Given the description of an element on the screen output the (x, y) to click on. 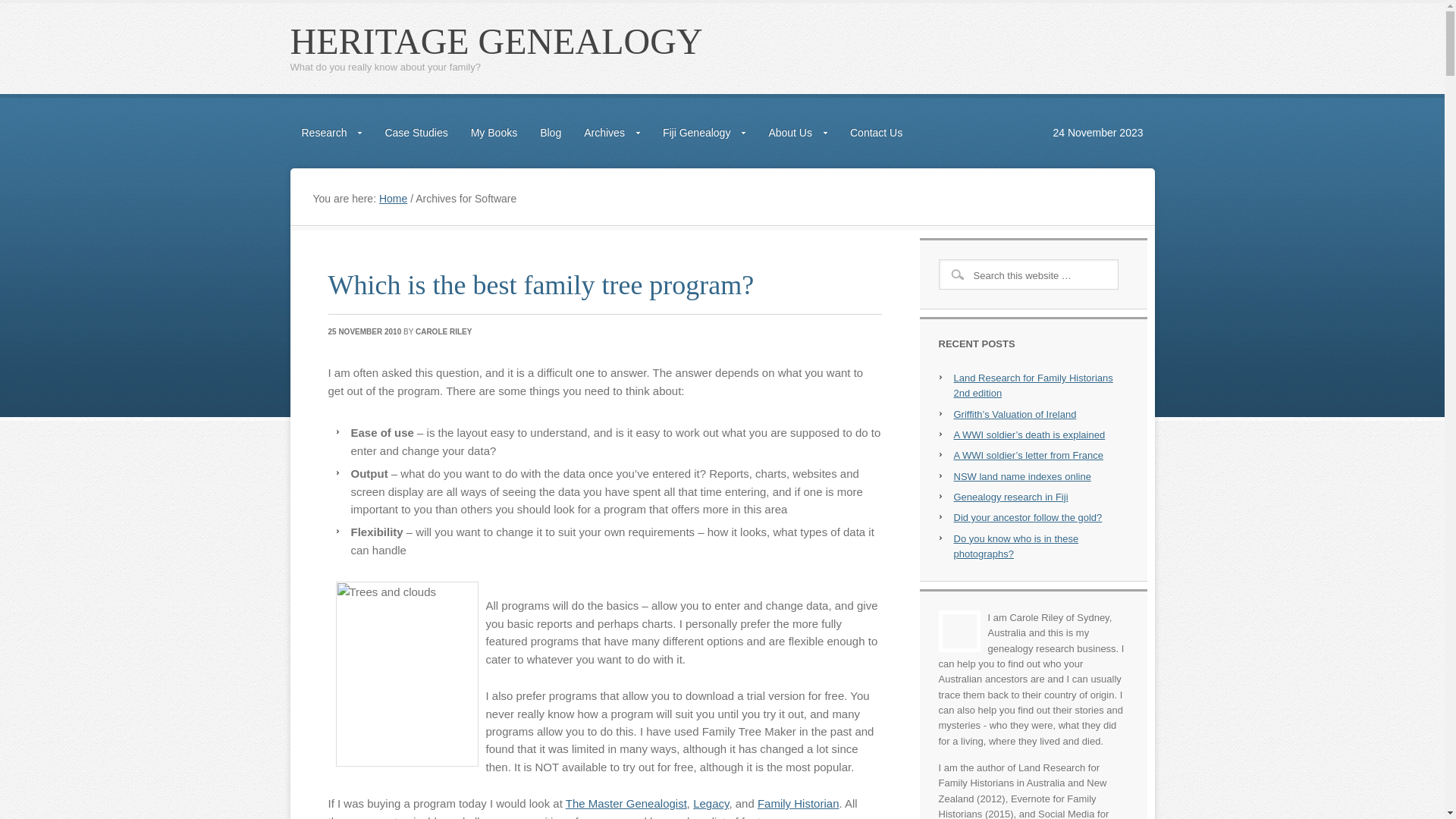
Land Research for Family Historians 2nd edition Element type: text (1033, 385)
Family Historian Element type: text (798, 803)
HERITAGE GENEALOGY Element type: text (495, 41)
Which is the best family tree program? Element type: text (540, 284)
Trees and clouds Element type: hover (406, 673)
Did your ancestor follow the gold? Element type: text (1027, 517)
Do you know who is in these photographs? Element type: text (1016, 545)
Case Studies Element type: text (415, 132)
Genealogy research in Fiji Element type: text (1010, 496)
CAROLE RILEY Element type: text (443, 331)
NSW land name indexes online Element type: text (1022, 476)
The Master Genealogist Element type: text (626, 803)
My Books Element type: text (493, 132)
Legacy Element type: text (710, 803)
Contact Us Element type: text (875, 132)
Search Element type: text (26, 12)
Blog Element type: text (550, 132)
Home Element type: text (393, 198)
